Given the description of an element on the screen output the (x, y) to click on. 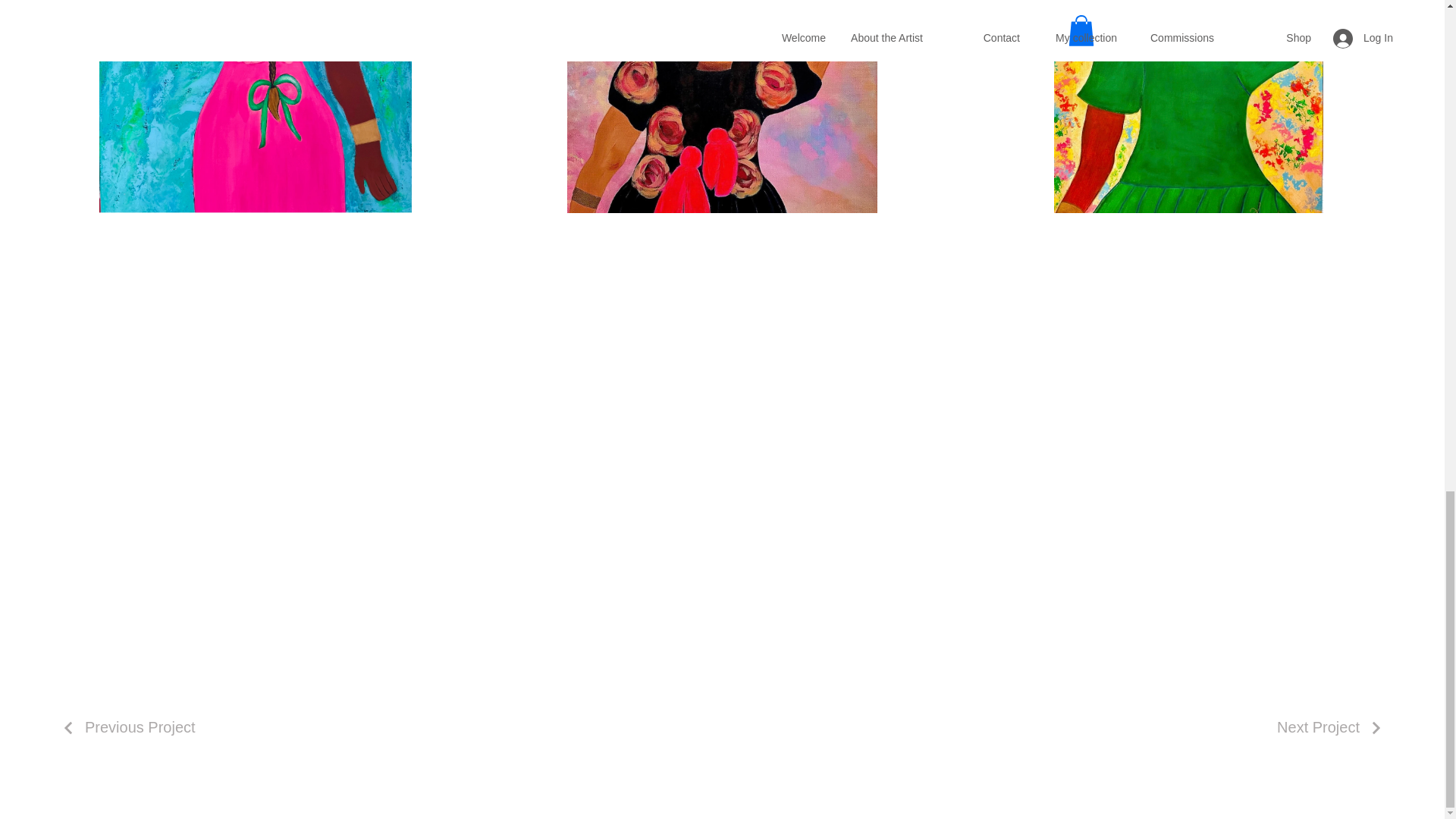
Previous Project (128, 727)
Next Project (1330, 727)
